Given the description of an element on the screen output the (x, y) to click on. 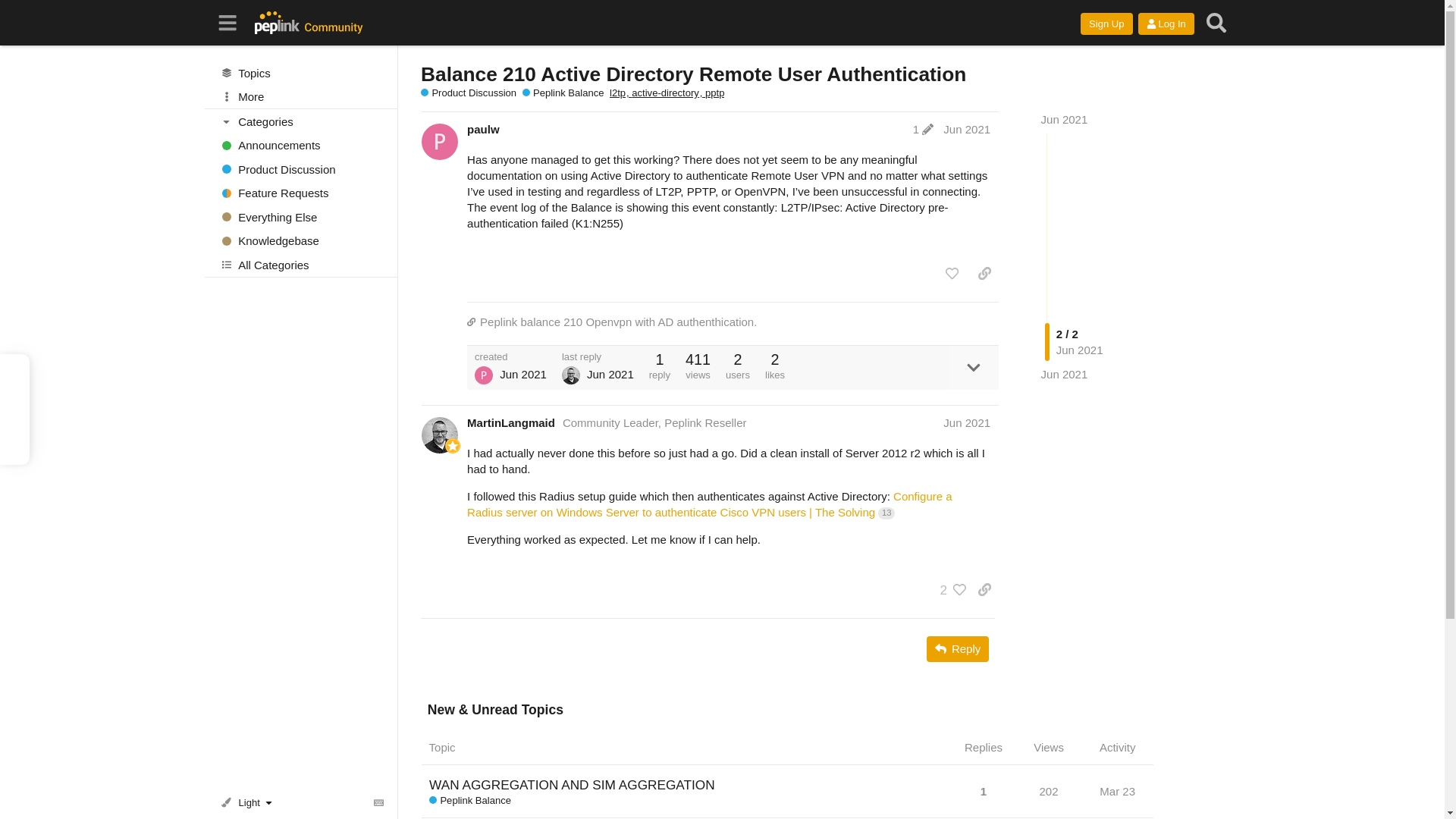
Log In (1165, 24)
Everything Else (301, 216)
All Categories (301, 264)
active-directory (667, 92)
Announcements (301, 145)
l2tp (620, 92)
Light (249, 802)
Balance 210 Active Directory Remote User Authentication (693, 74)
Categories (301, 120)
Jun 2021 (1064, 119)
Peplink balance 210 Openvpn with AD authenthication. (732, 321)
Sign Up (1106, 24)
Catch exciting news that we have to share with you. (301, 145)
